Given the description of an element on the screen output the (x, y) to click on. 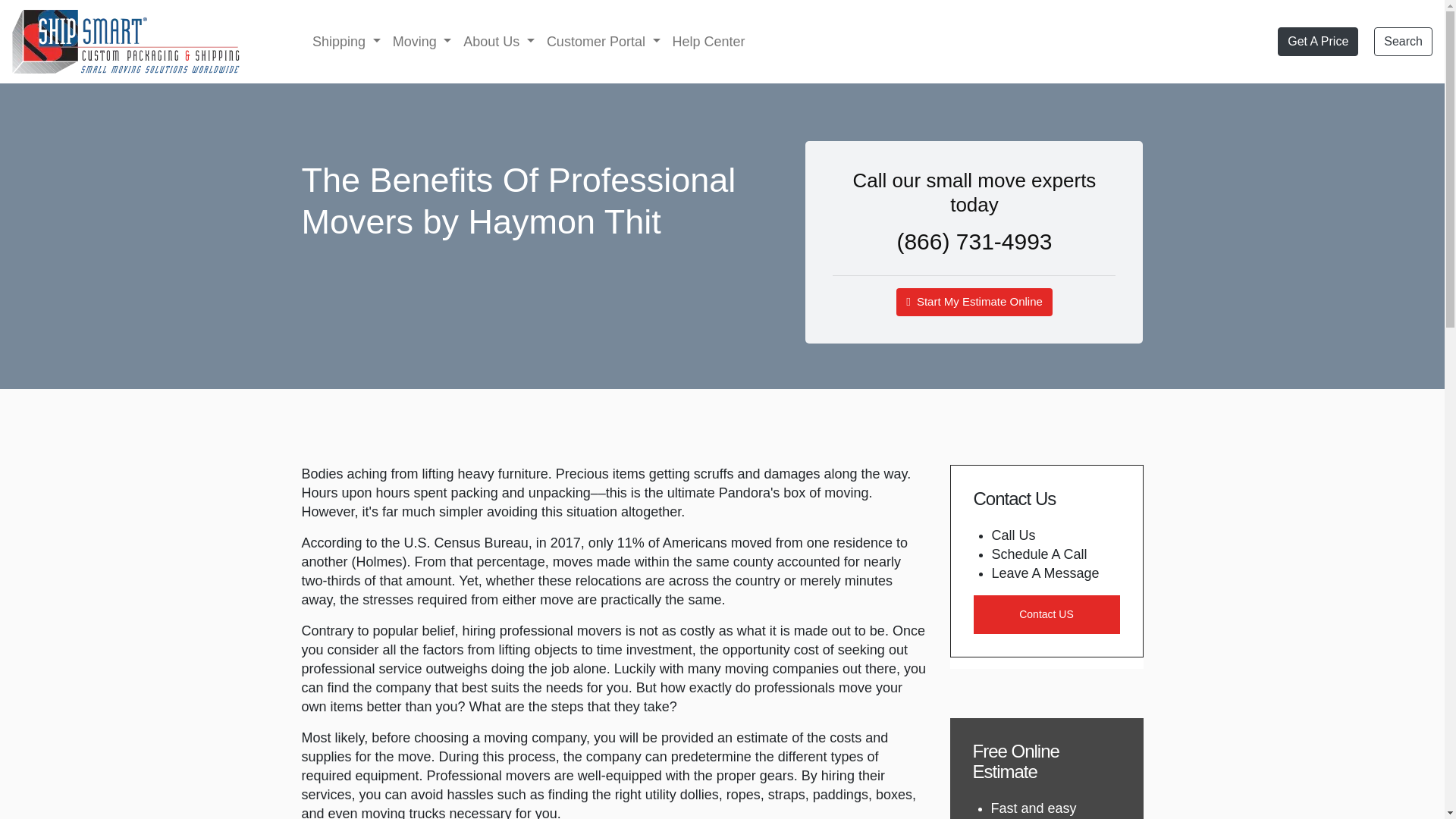
About Us (498, 40)
Help Center (708, 40)
Moving (422, 40)
  Start My Estimate Online (974, 302)
Get A Price (1318, 41)
Ship Smart Logo (125, 41)
Customer Portal (603, 40)
Contact US (1046, 613)
Shipping (346, 40)
Search (1403, 41)
